Given the description of an element on the screen output the (x, y) to click on. 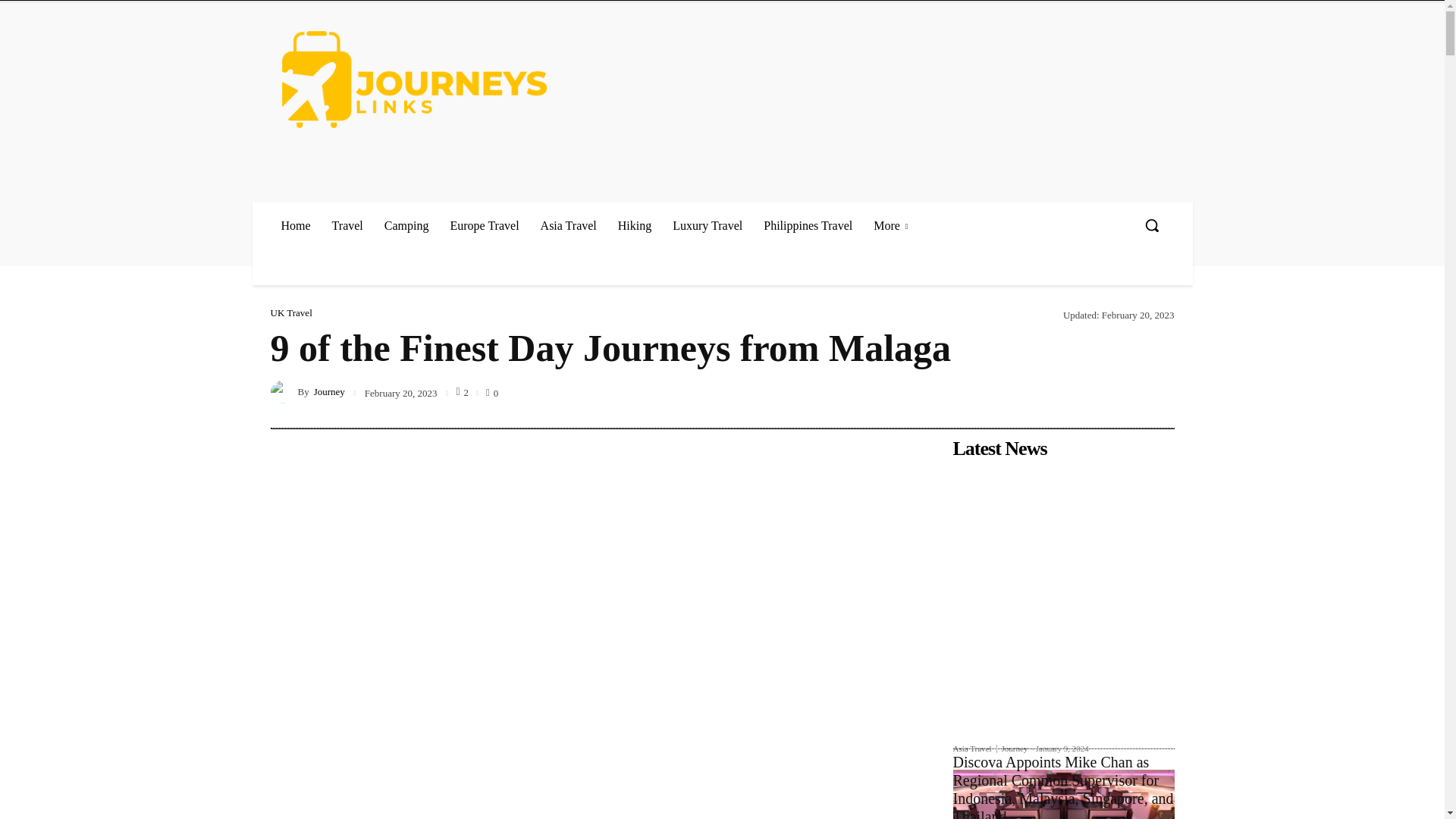
Europe Travel (484, 225)
Camping (406, 225)
Luxury Travel (707, 225)
Travel (347, 225)
Philippines Travel (807, 225)
More (890, 225)
Asia Travel (568, 225)
Journey (283, 391)
Hiking (634, 225)
Home (294, 225)
